Given the description of an element on the screen output the (x, y) to click on. 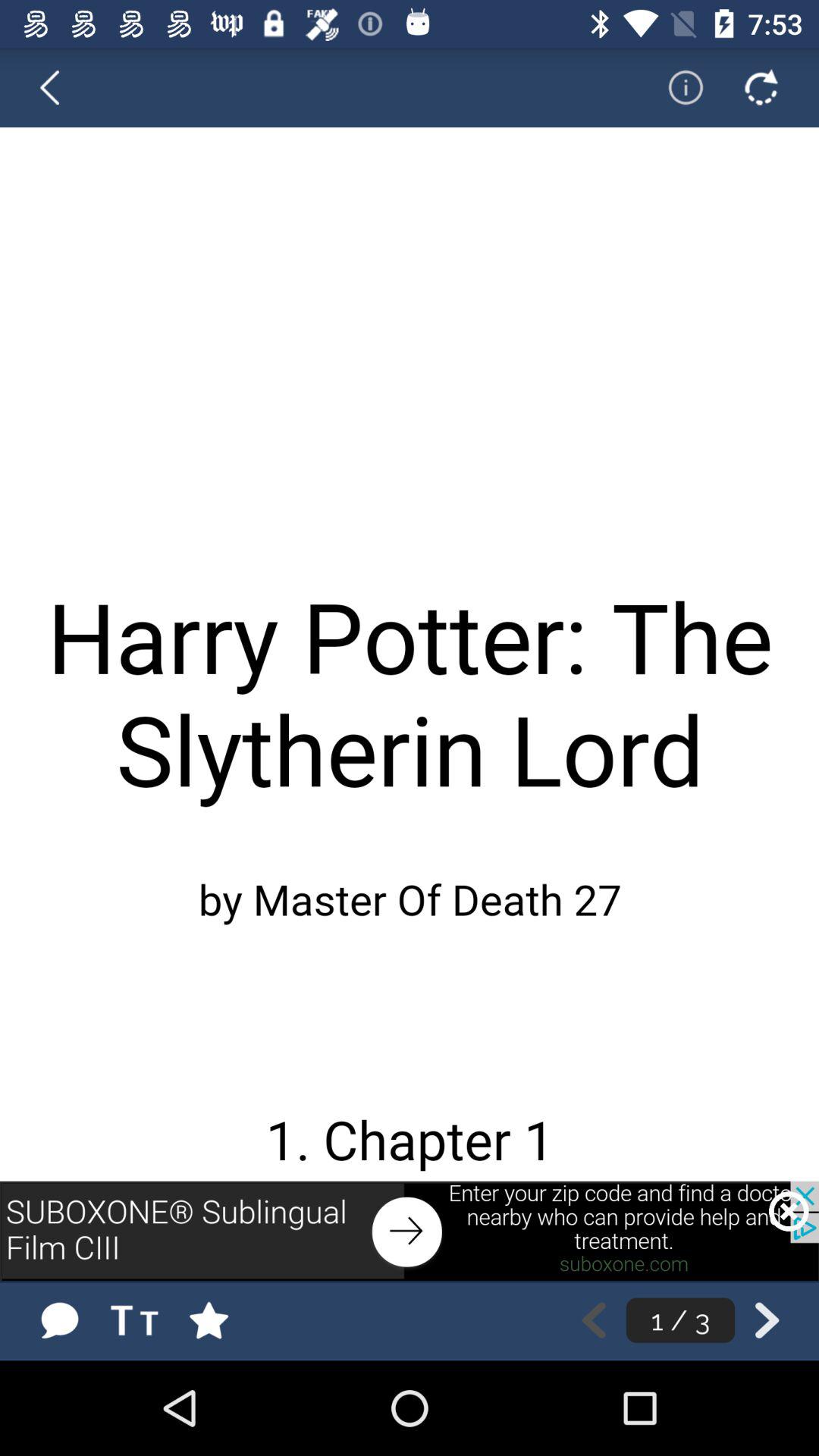
go to the previous page (593, 1320)
